Given the description of an element on the screen output the (x, y) to click on. 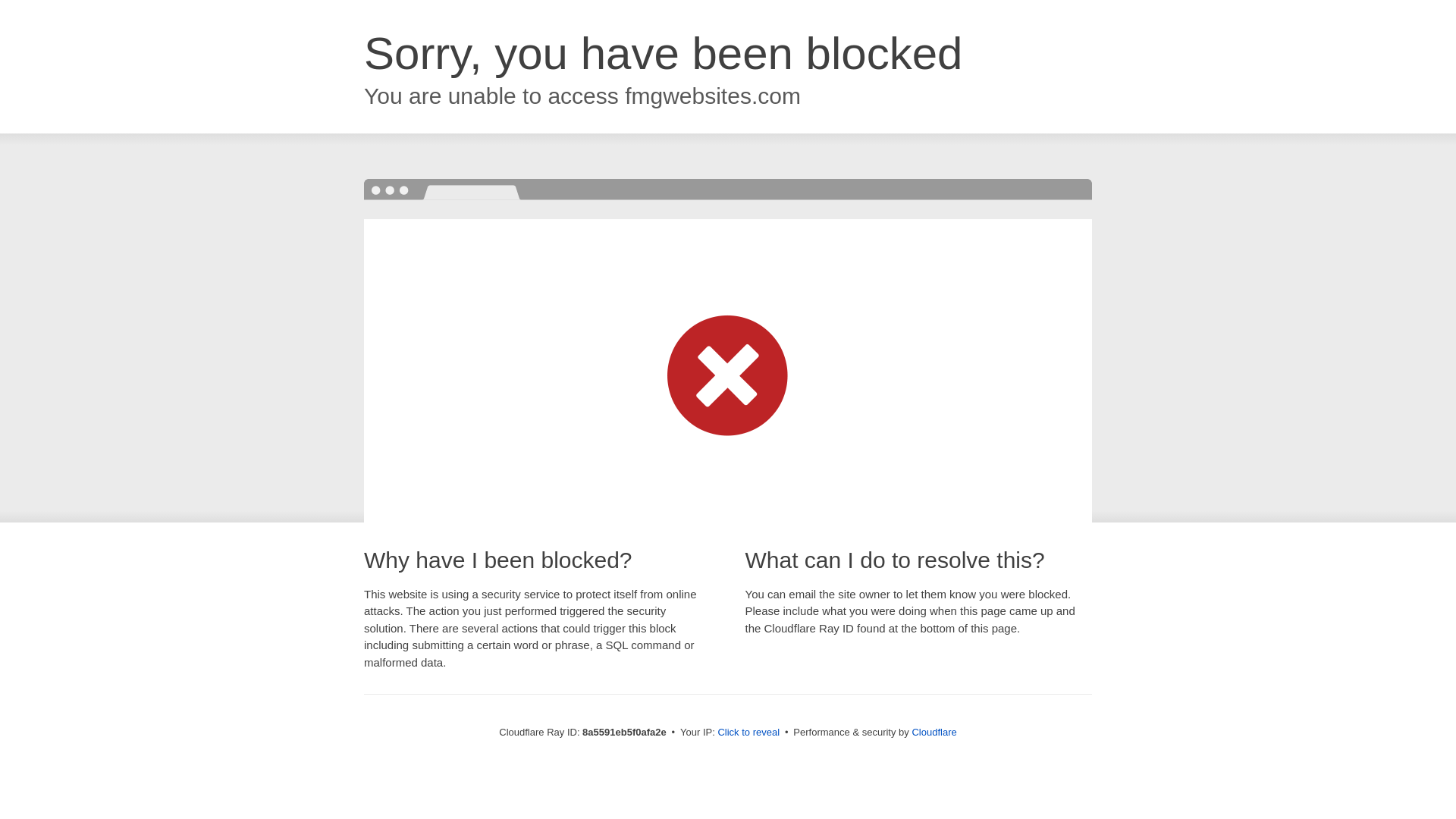
Click to reveal (747, 732)
Cloudflare (933, 731)
